Given the description of an element on the screen output the (x, y) to click on. 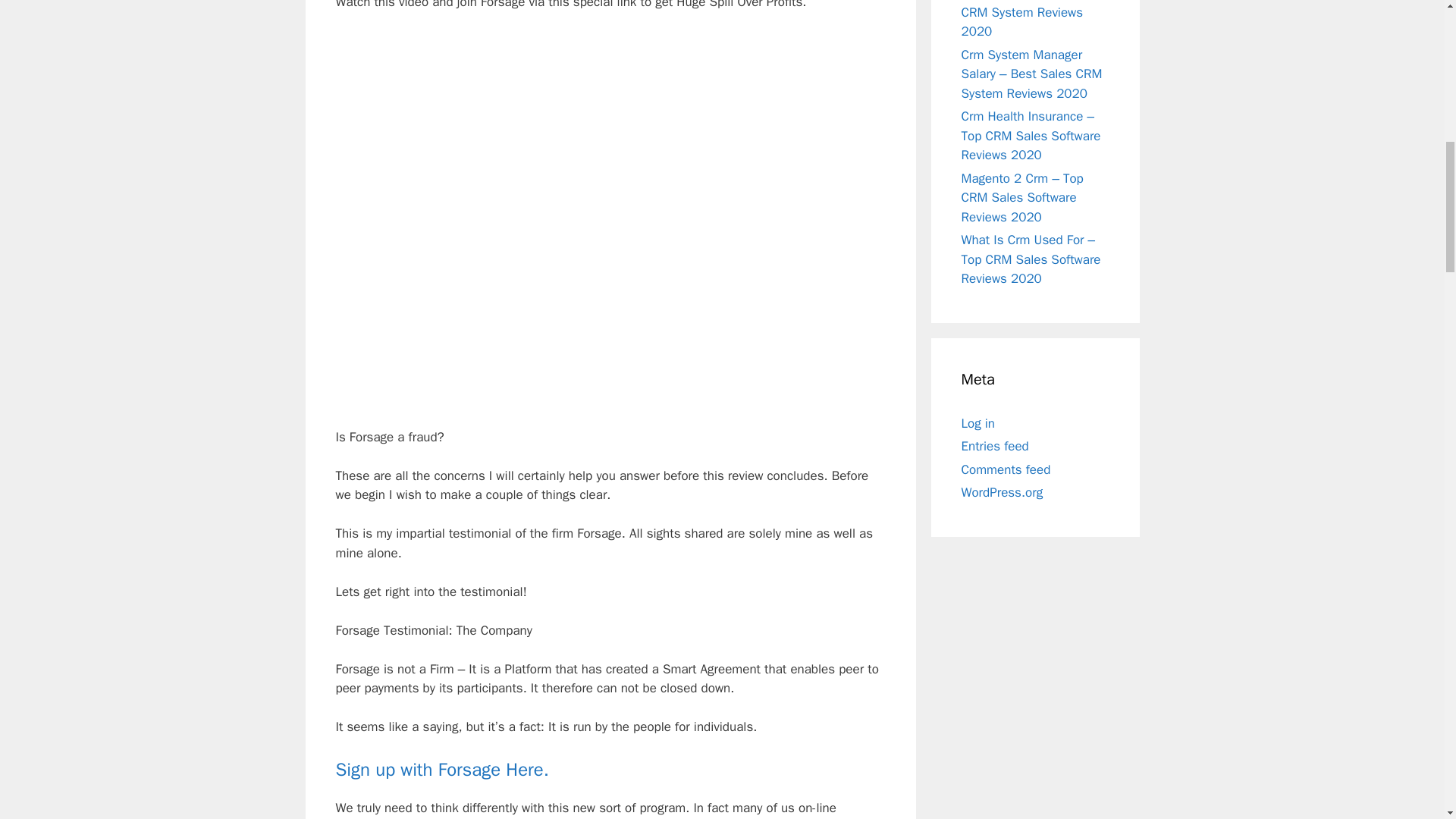
Log in (977, 423)
Comments feed (1005, 469)
Sign up with Forsage Here. (441, 769)
WordPress.org (1001, 492)
Entries feed (994, 446)
